Given the description of an element on the screen output the (x, y) to click on. 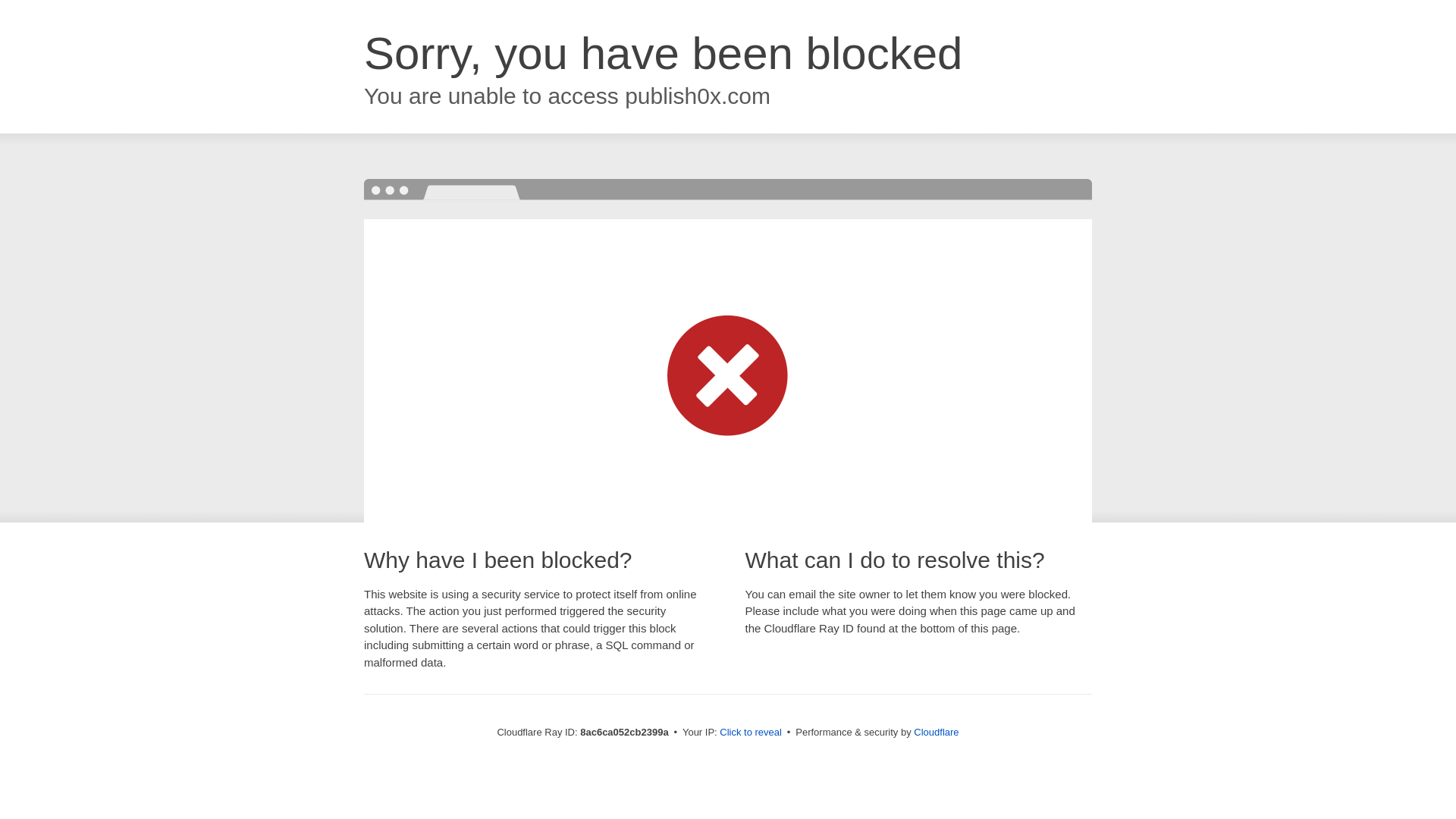
Click to reveal (750, 732)
Cloudflare (936, 731)
